Given the description of an element on the screen output the (x, y) to click on. 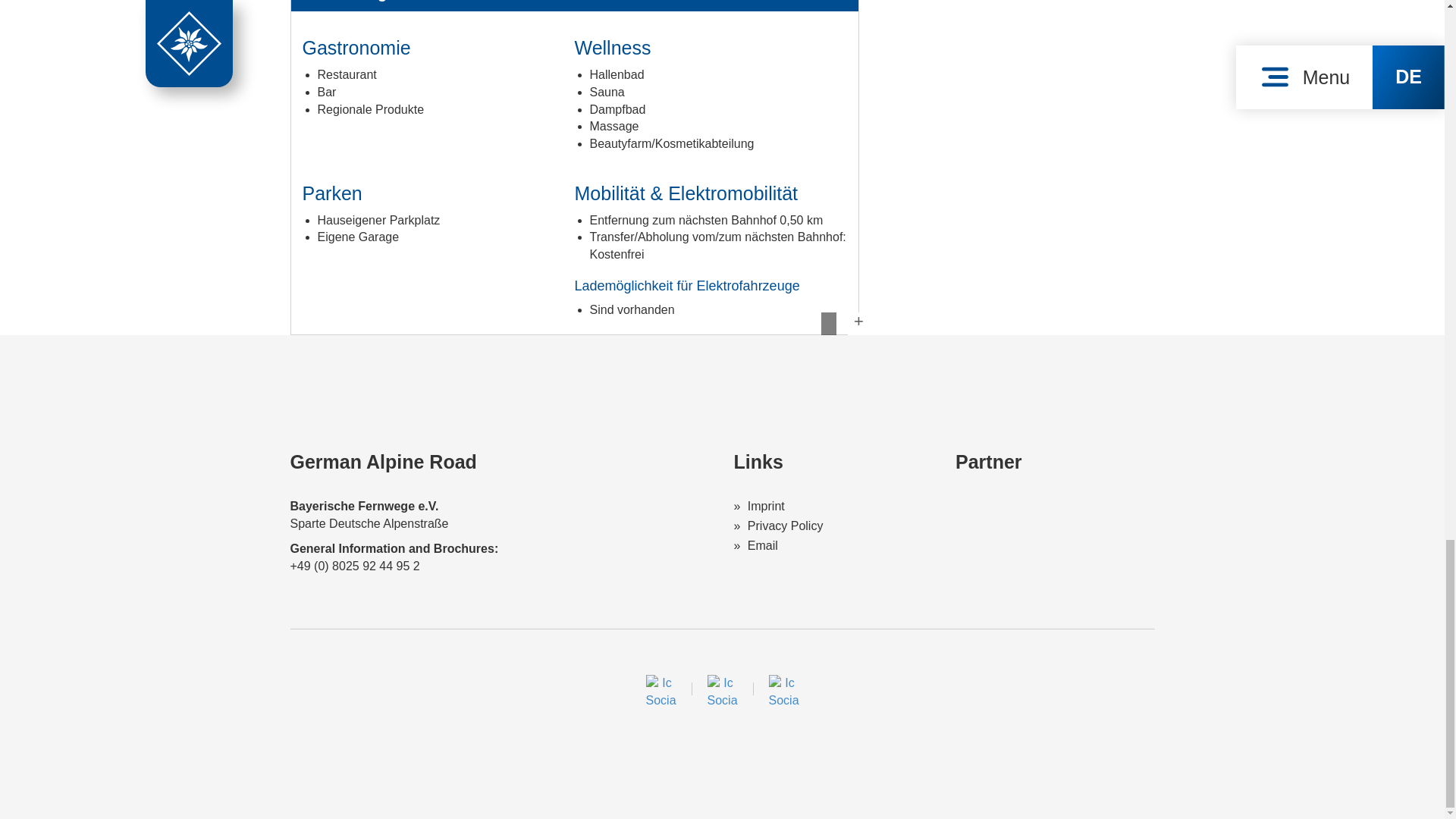
Imprint (758, 505)
Email (755, 545)
Privacy Policy (778, 525)
